Given the description of an element on the screen output the (x, y) to click on. 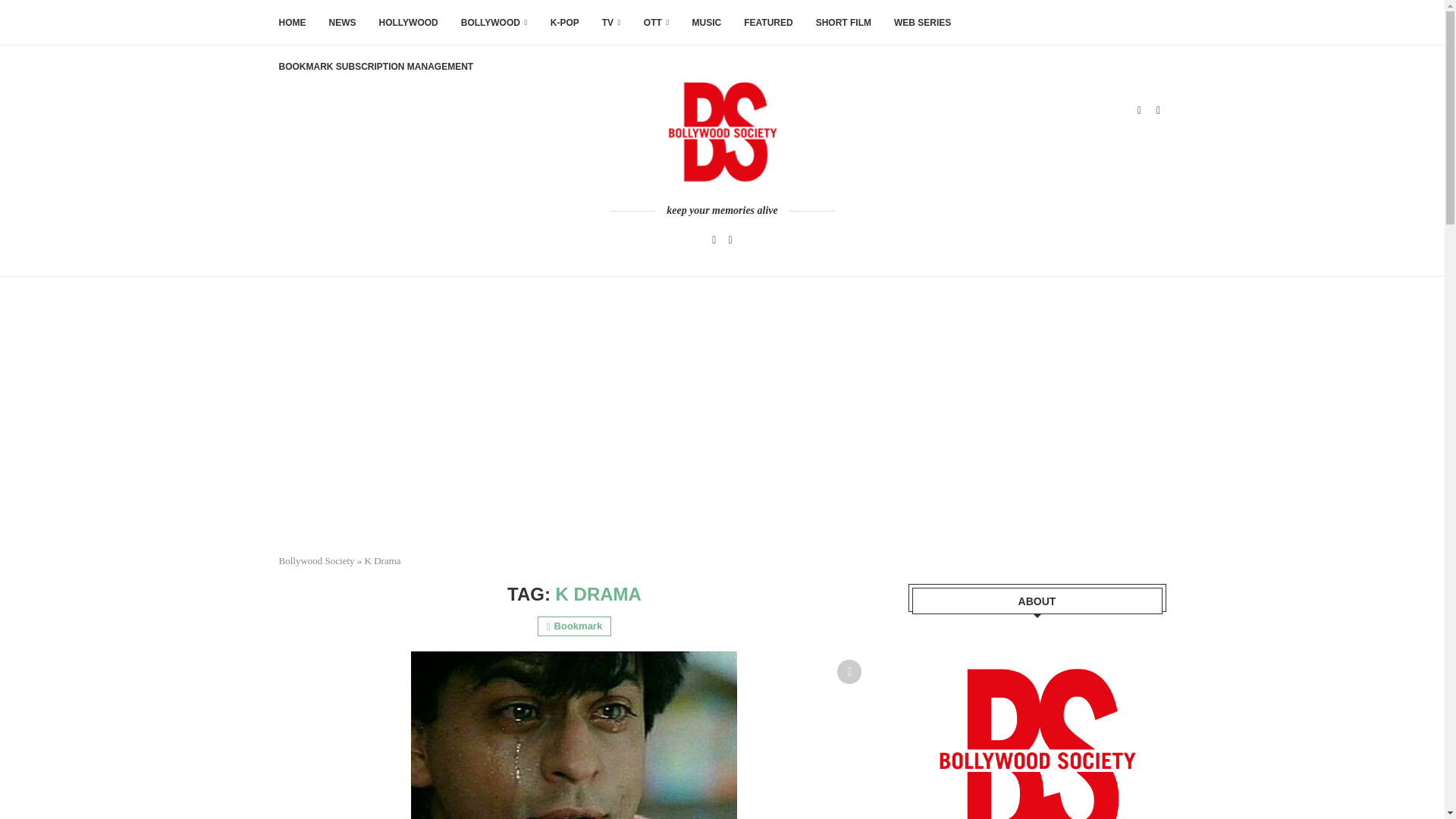
HOLLYWOOD (408, 22)
BOOKMARK SUBSCRIPTION MANAGEMENT (376, 66)
Bookmark (848, 671)
FEATURED (768, 22)
WEB SERIES (921, 22)
Bollywood Society (317, 560)
Bookmark (574, 626)
SHORT FILM (842, 22)
BOLLYWOOD (494, 22)
